Given the description of an element on the screen output the (x, y) to click on. 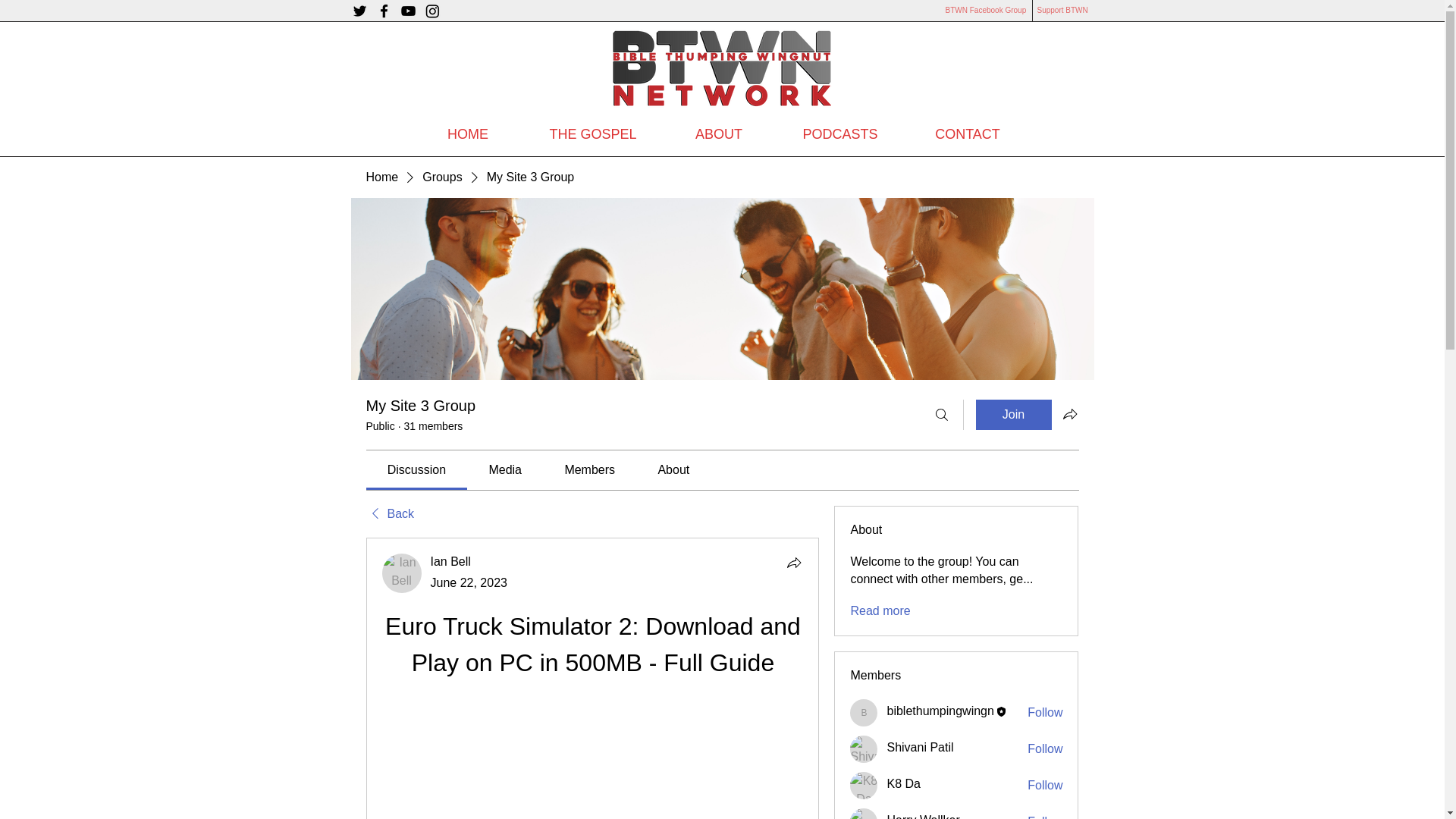
Follow (1044, 712)
Ian Bell (450, 561)
Ian Bell (450, 561)
Harry Wallker (922, 815)
biblethumpingwingn (863, 712)
PODCASTS (839, 134)
K8 Da (903, 783)
Read more (880, 610)
CONTACT (967, 134)
Shivani Patil (863, 748)
